Given the description of an element on the screen output the (x, y) to click on. 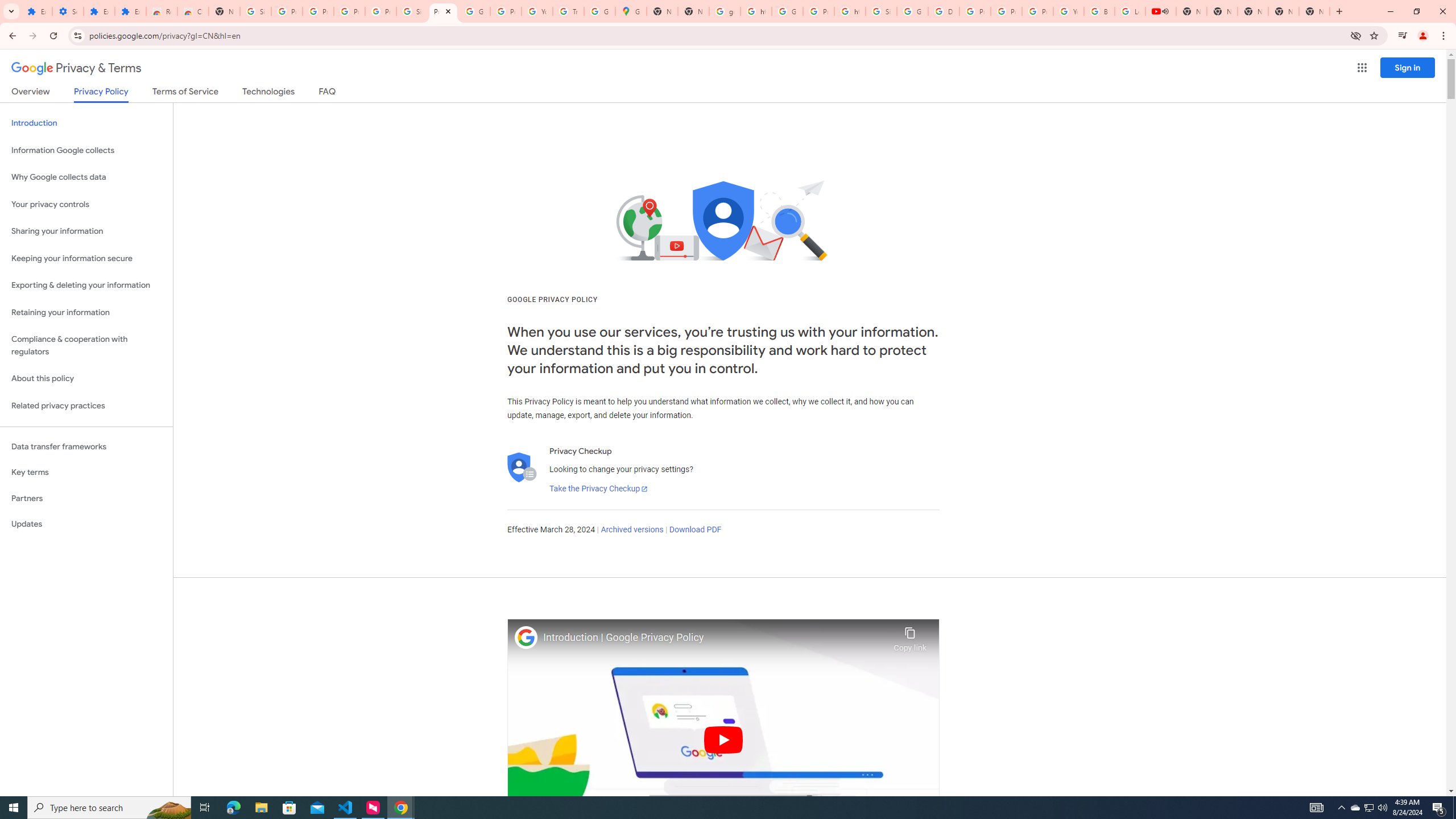
Archived versions (631, 529)
Privacy Help Center - Policies Help (974, 11)
YouTube (536, 11)
Extensions (98, 11)
Data transfer frameworks (86, 446)
Sign in - Google Accounts (255, 11)
Extensions (36, 11)
